Given the description of an element on the screen output the (x, y) to click on. 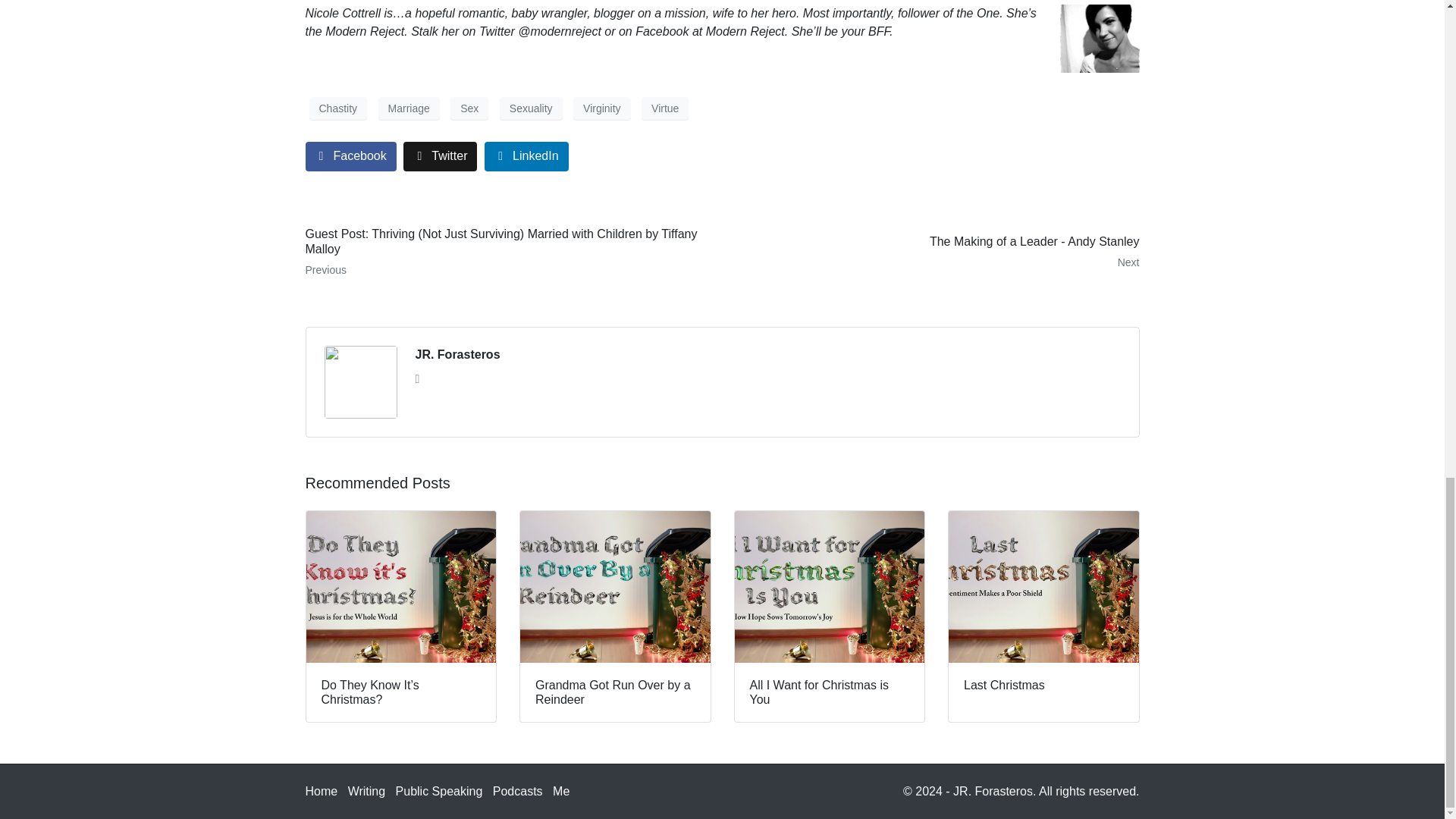
The Making of a Leader - Andy Stanley (936, 251)
bio-pic (1099, 38)
